Given the description of an element on the screen output the (x, y) to click on. 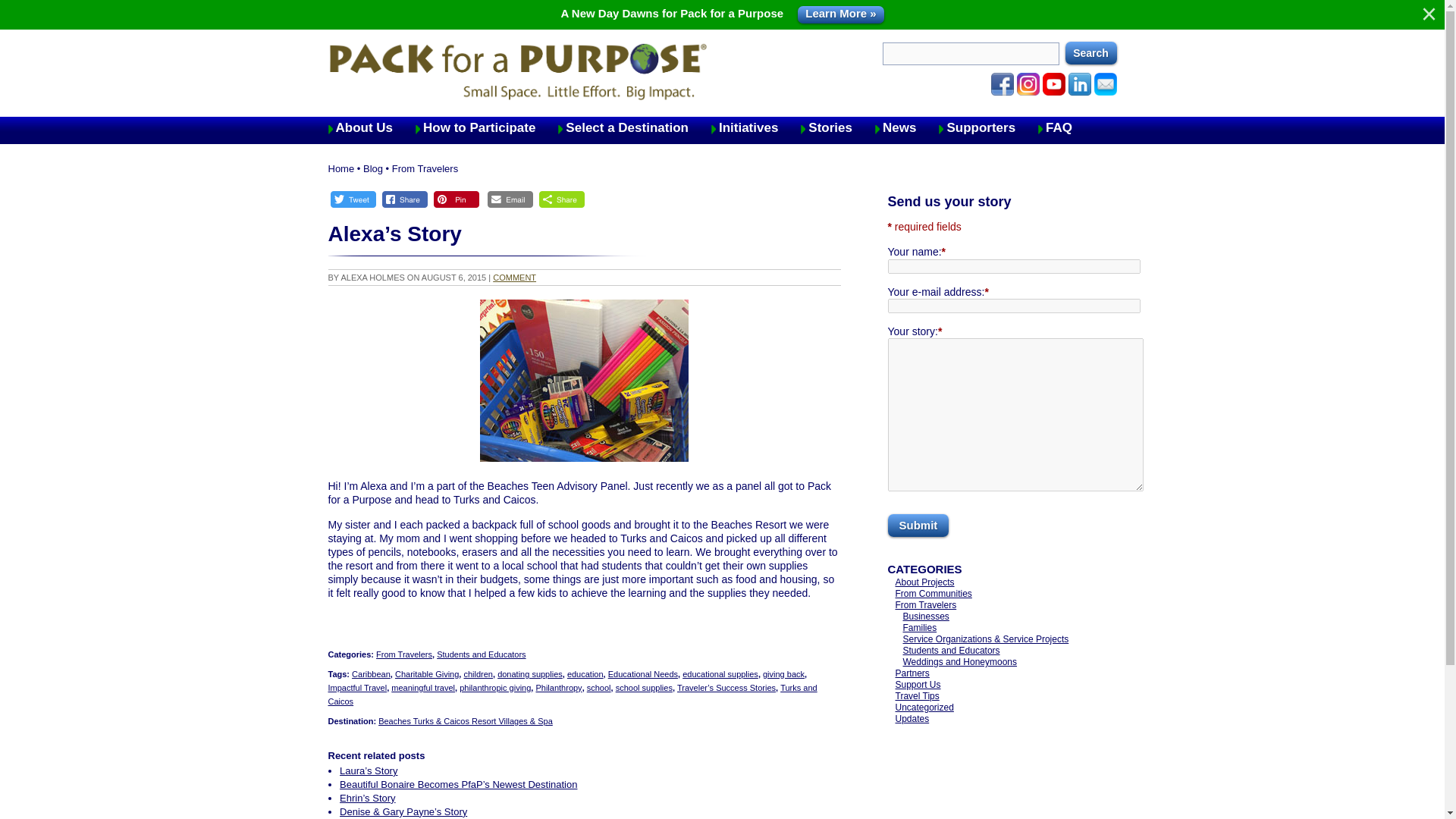
Home (340, 168)
Submit (917, 525)
Initiatives (755, 127)
News (907, 127)
Supporters (988, 127)
LinkedIn (1078, 83)
Instagram (1027, 83)
Mail (1104, 83)
How to Participate (485, 127)
Search (1090, 52)
